Given the description of an element on the screen output the (x, y) to click on. 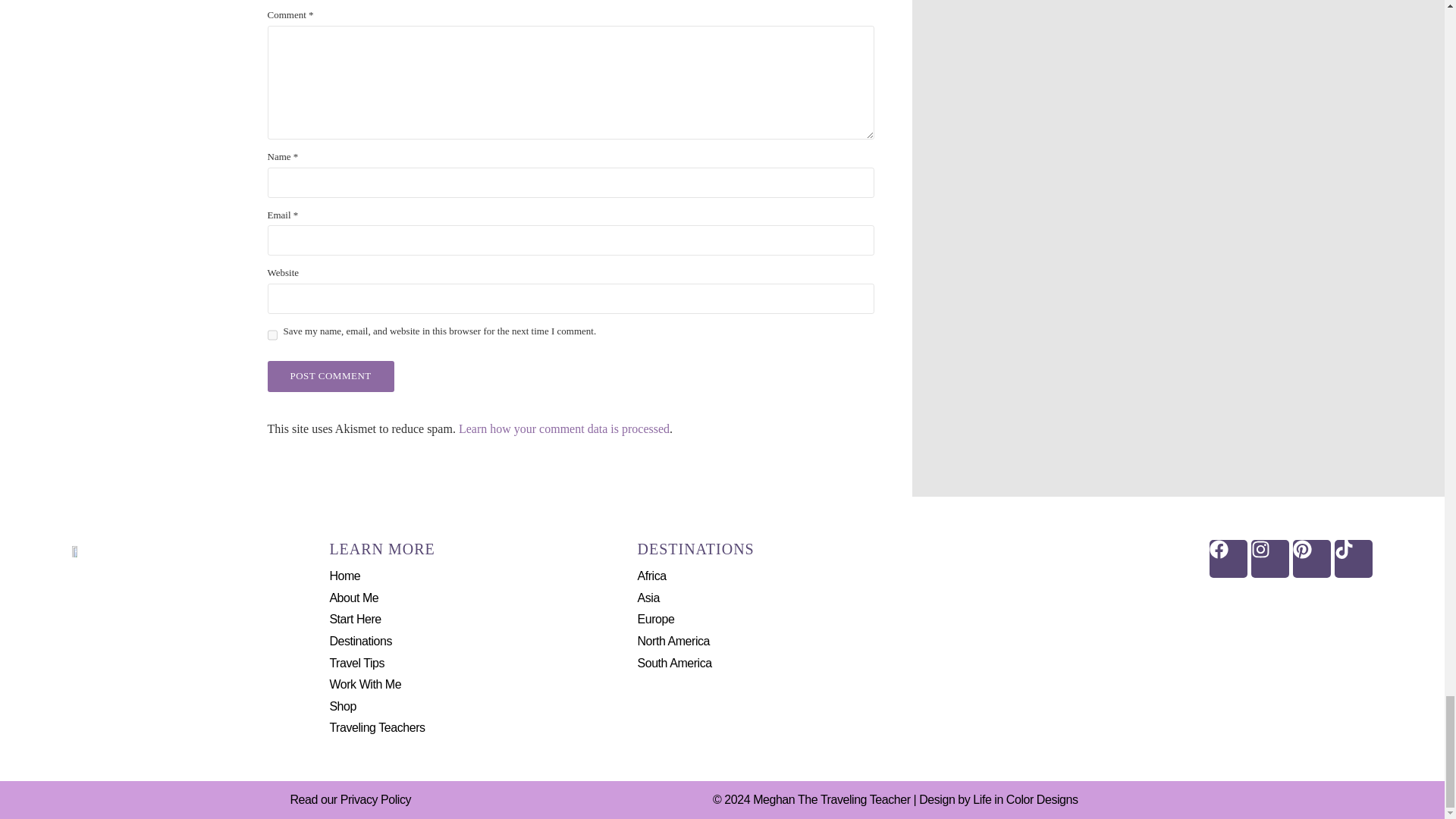
yes (271, 334)
Post Comment (329, 376)
